Given the description of an element on the screen output the (x, y) to click on. 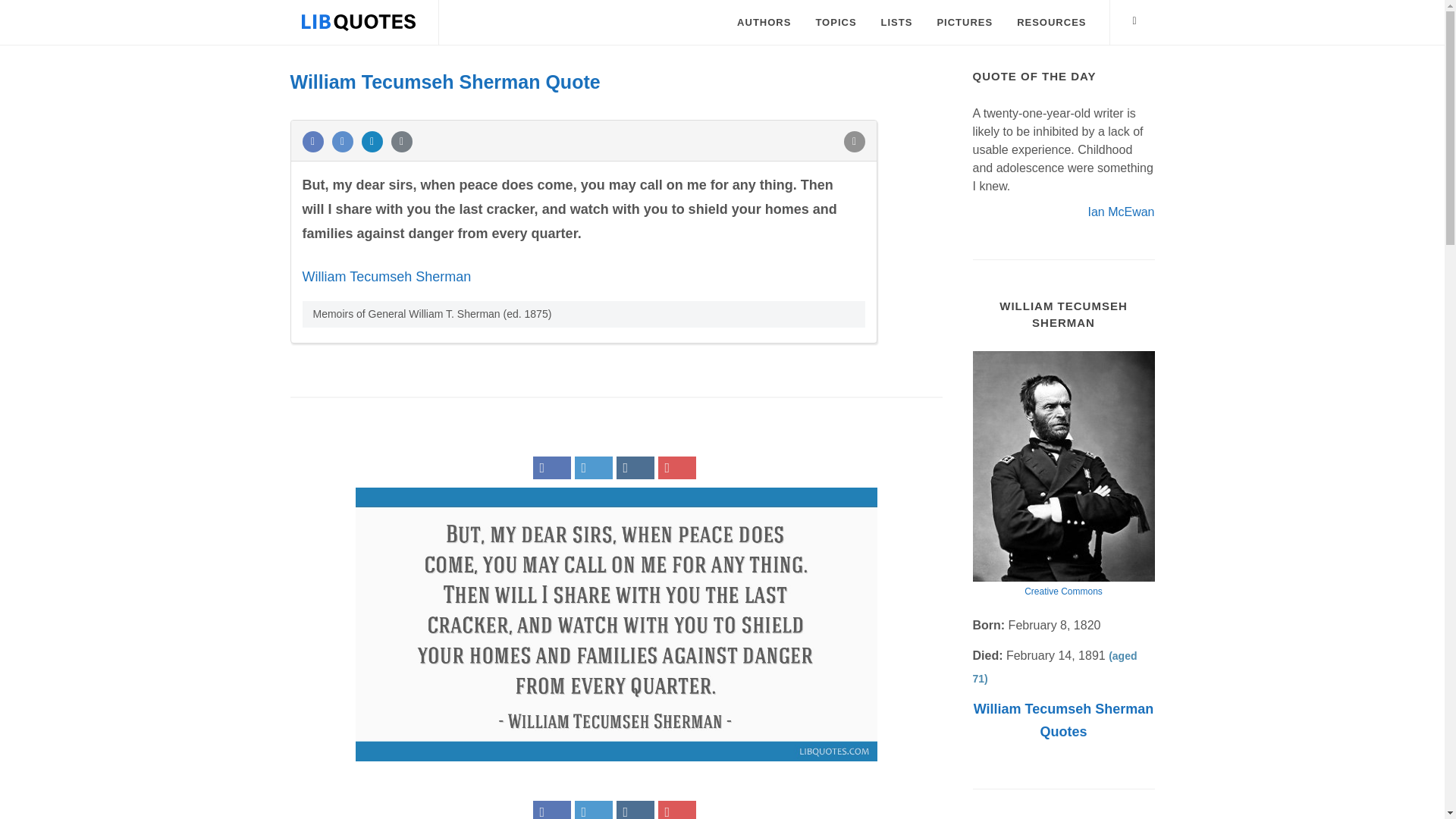
William Tecumseh Sherman Quotes (1064, 719)
PICTURES (964, 22)
RESOURCES (1051, 22)
William Tecumseh Sherman (385, 276)
Creative Commons (1063, 590)
Ian McEwan (1120, 210)
AUTHORS (763, 22)
LISTS (896, 22)
TOPICS (835, 22)
